Given the description of an element on the screen output the (x, y) to click on. 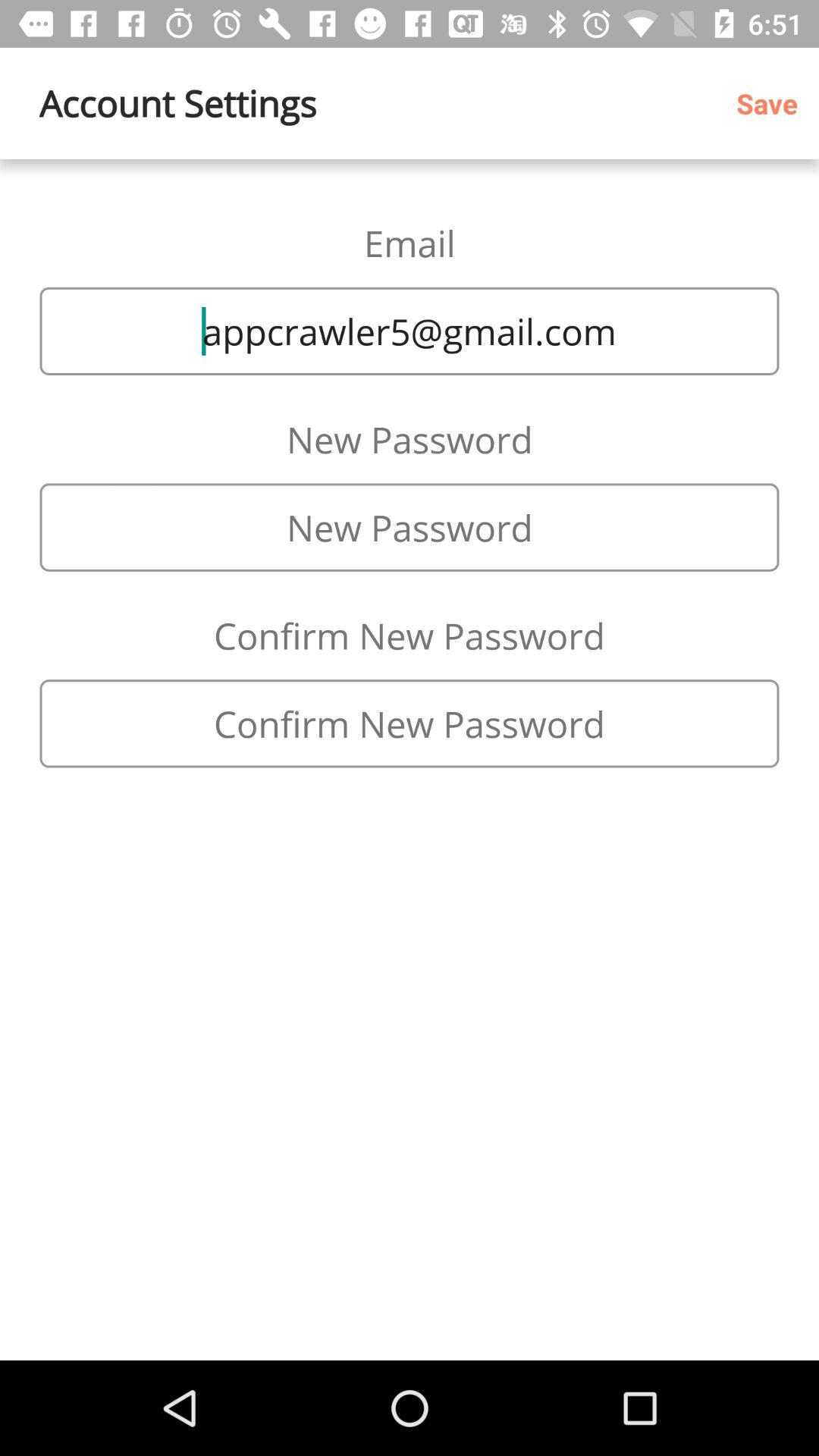
turn off item to the right of the account settings item (772, 103)
